Given the description of an element on the screen output the (x, y) to click on. 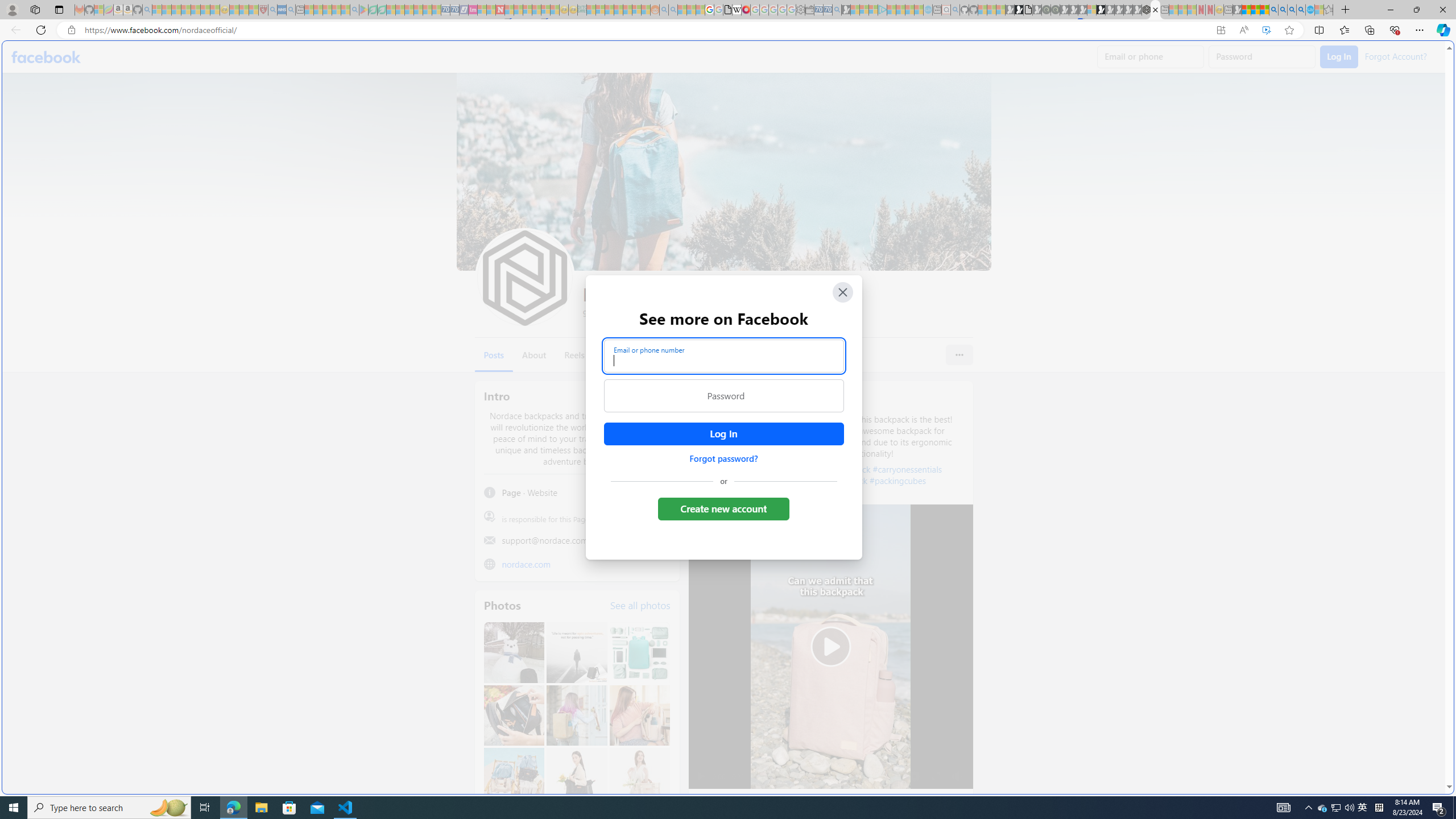
Target page - Wikipedia (736, 9)
Bluey: Let's Play! - Apps on Google Play - Sleeping (362, 9)
Facebook (46, 56)
Sign in to your account - Sleeping (1090, 9)
github - Search - Sleeping (954, 9)
google - Search - Sleeping (354, 9)
